Given the description of an element on the screen output the (x, y) to click on. 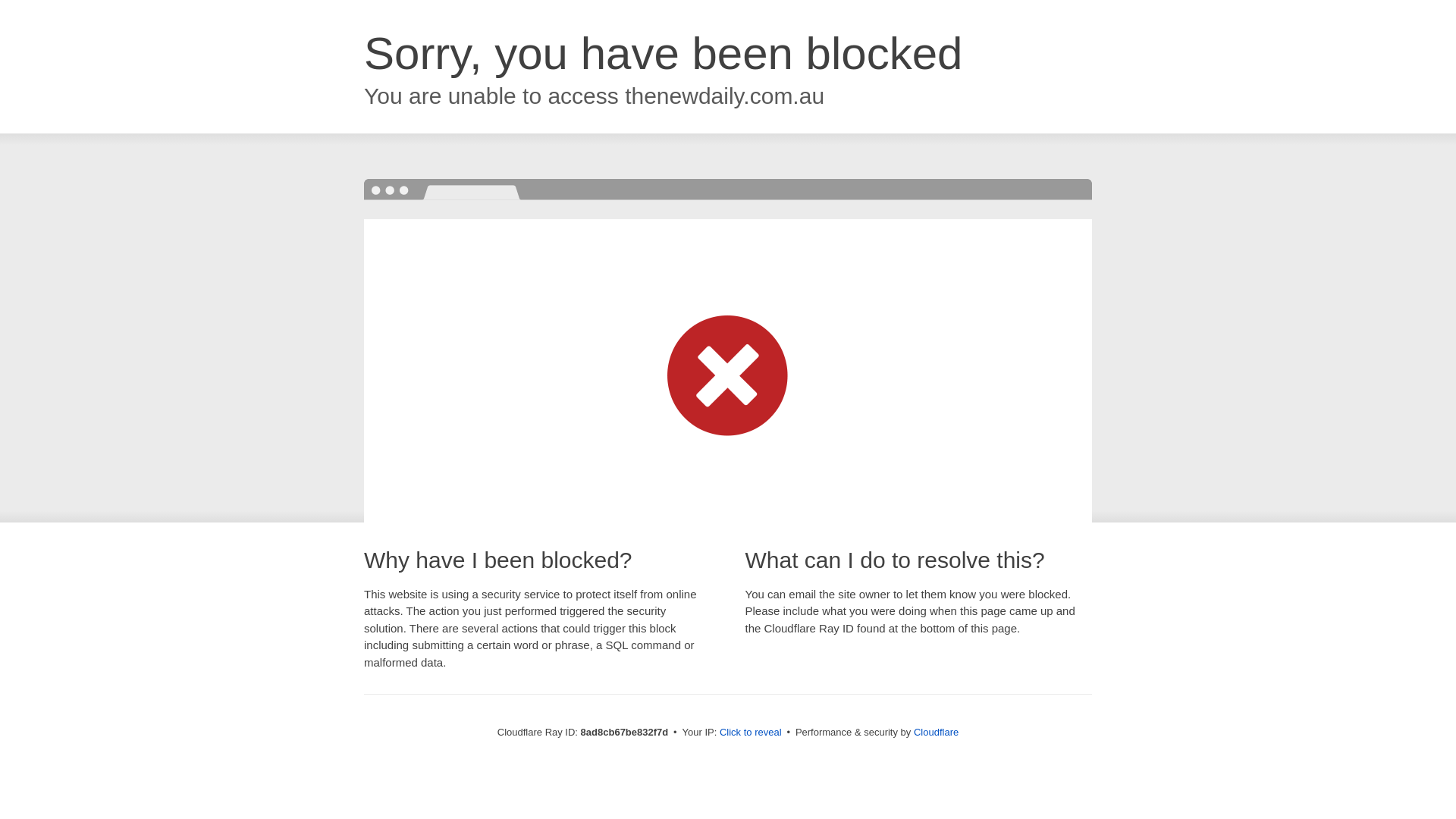
Cloudflare (936, 731)
Click to reveal (750, 732)
